Given the description of an element on the screen output the (x, y) to click on. 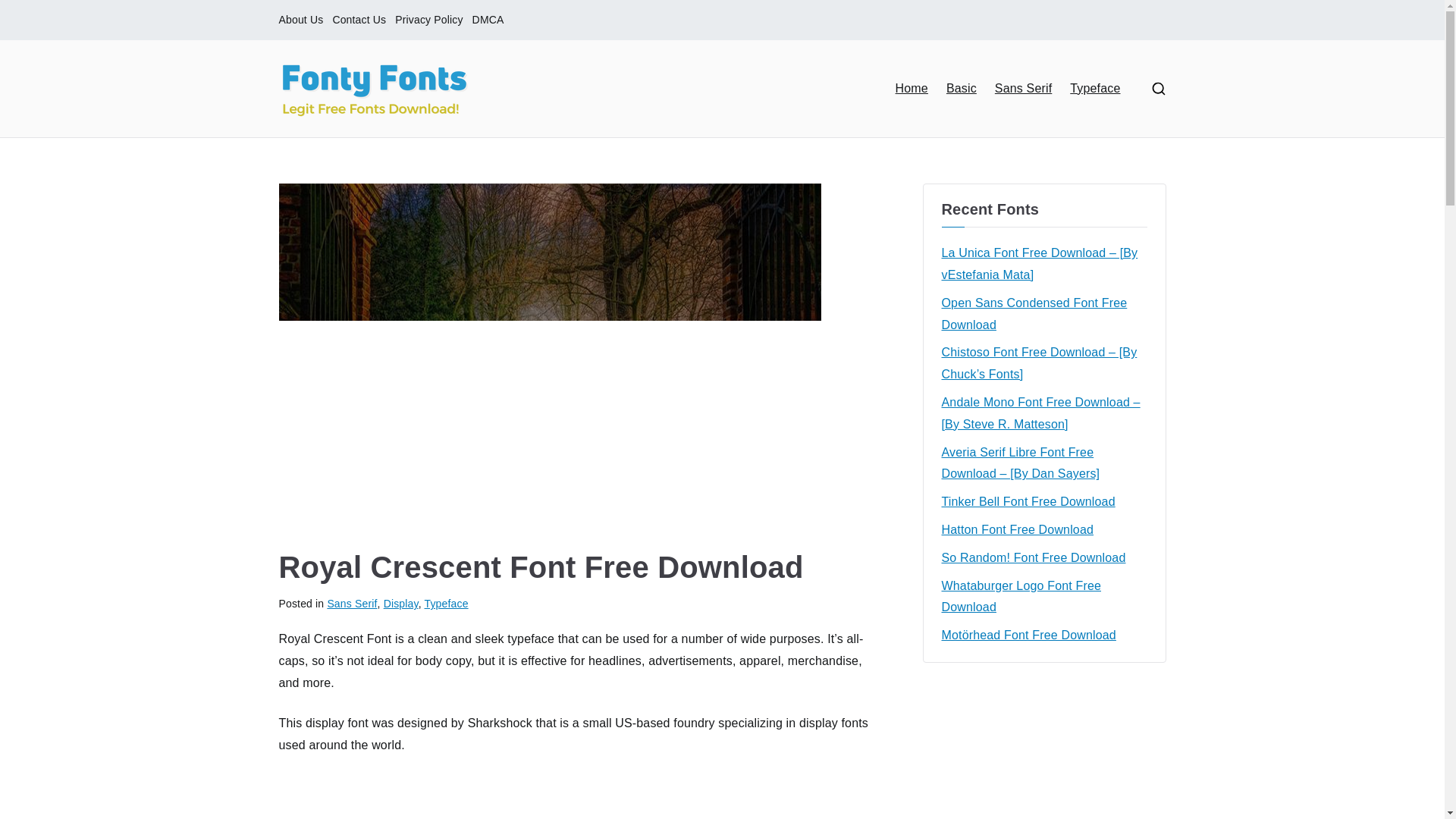
Typeface (446, 603)
Basic (961, 88)
Contact Us (358, 19)
About Us (301, 19)
Sans Serif (1022, 88)
Typeface (1094, 88)
Privacy Policy (428, 19)
Sans Serif (351, 603)
Display (401, 603)
DMCA (487, 19)
Search (26, 12)
Fonty Fonts (571, 108)
Advertisement (577, 796)
Home (911, 88)
